Given the description of an element on the screen output the (x, y) to click on. 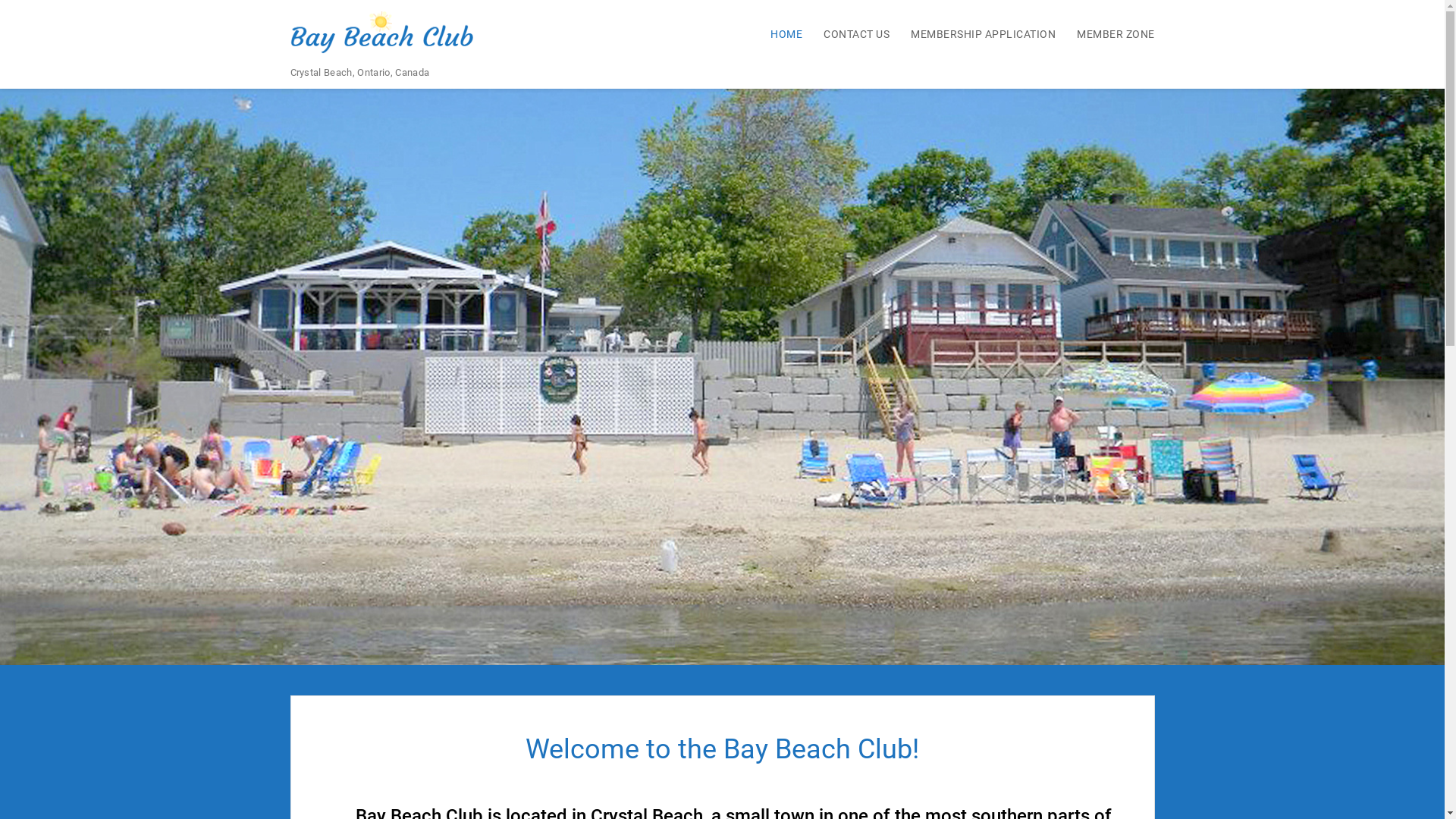
CONTACT US Element type: text (847, 33)
MEMBERSHIP APPLICATION Element type: text (973, 33)
MEMBER ZONE Element type: text (1106, 33)
Bay Beach Club Element type: text (520, 59)
HOME Element type: text (777, 33)
Bay Beach Club Element type: hover (722, 374)
